Given the description of an element on the screen output the (x, y) to click on. 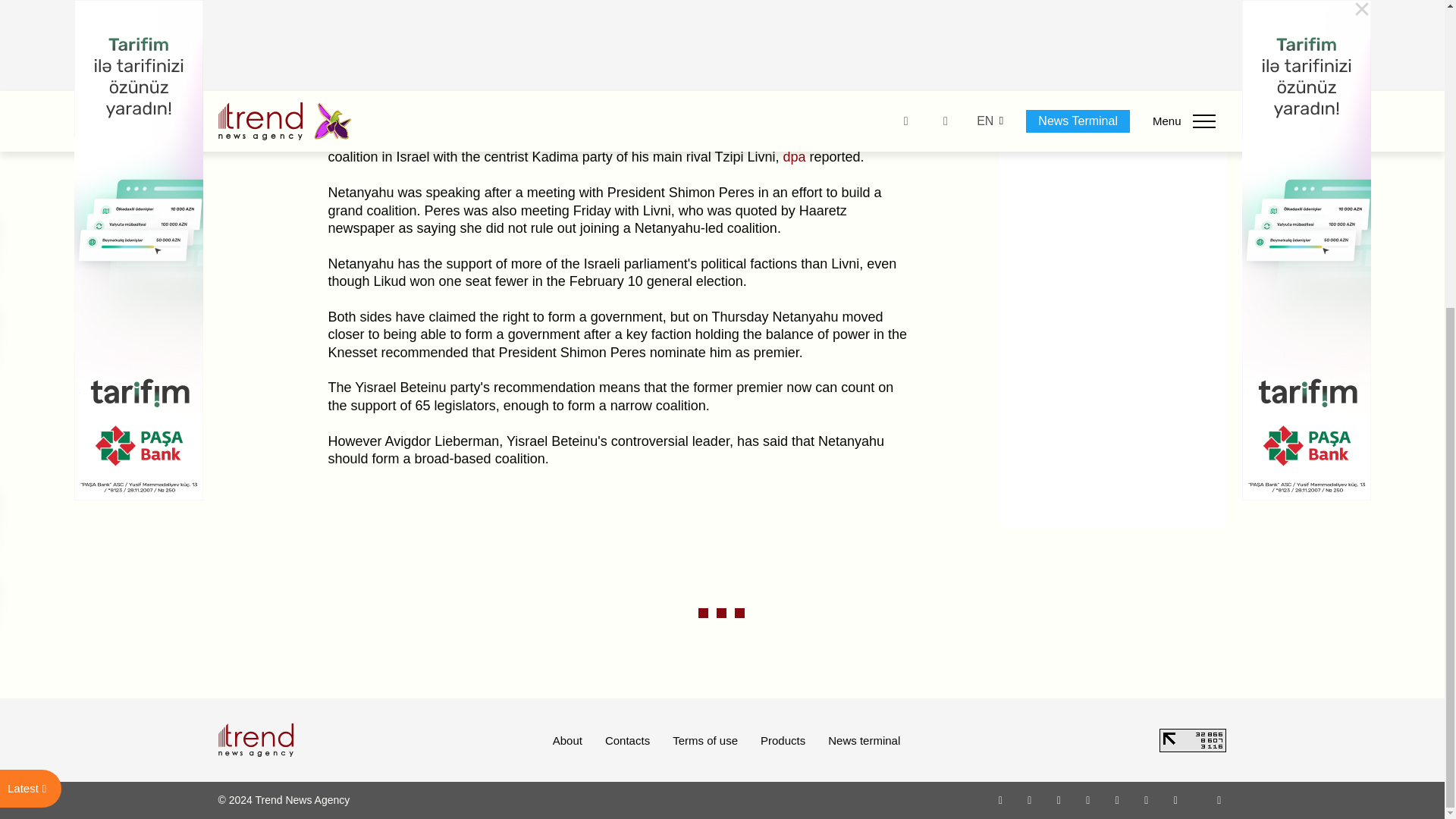
Twitter (1059, 799)
Whatsapp (1000, 799)
Telegram (1117, 799)
LinkedIn (1146, 799)
RSS Feed (1219, 799)
Youtube (1088, 799)
Facebook (1029, 799)
Android App (1176, 799)
3rd party ad content (1112, 72)
